Given the description of an element on the screen output the (x, y) to click on. 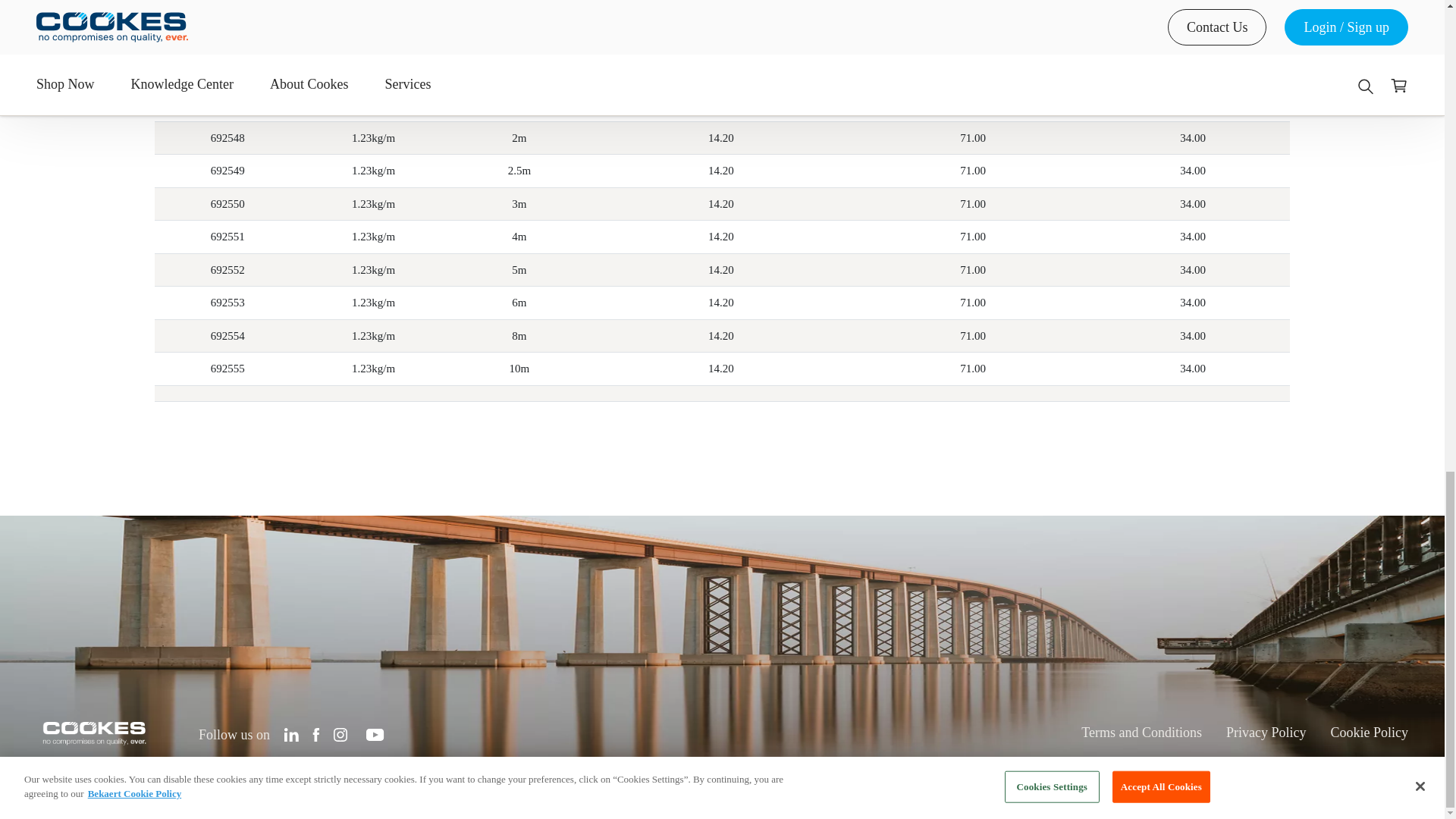
Instagram (340, 734)
Linkedin (290, 734)
American Express (1323, 781)
Youtube (375, 734)
Visa (1395, 781)
Mastercard (1359, 781)
